Given the description of an element on the screen output the (x, y) to click on. 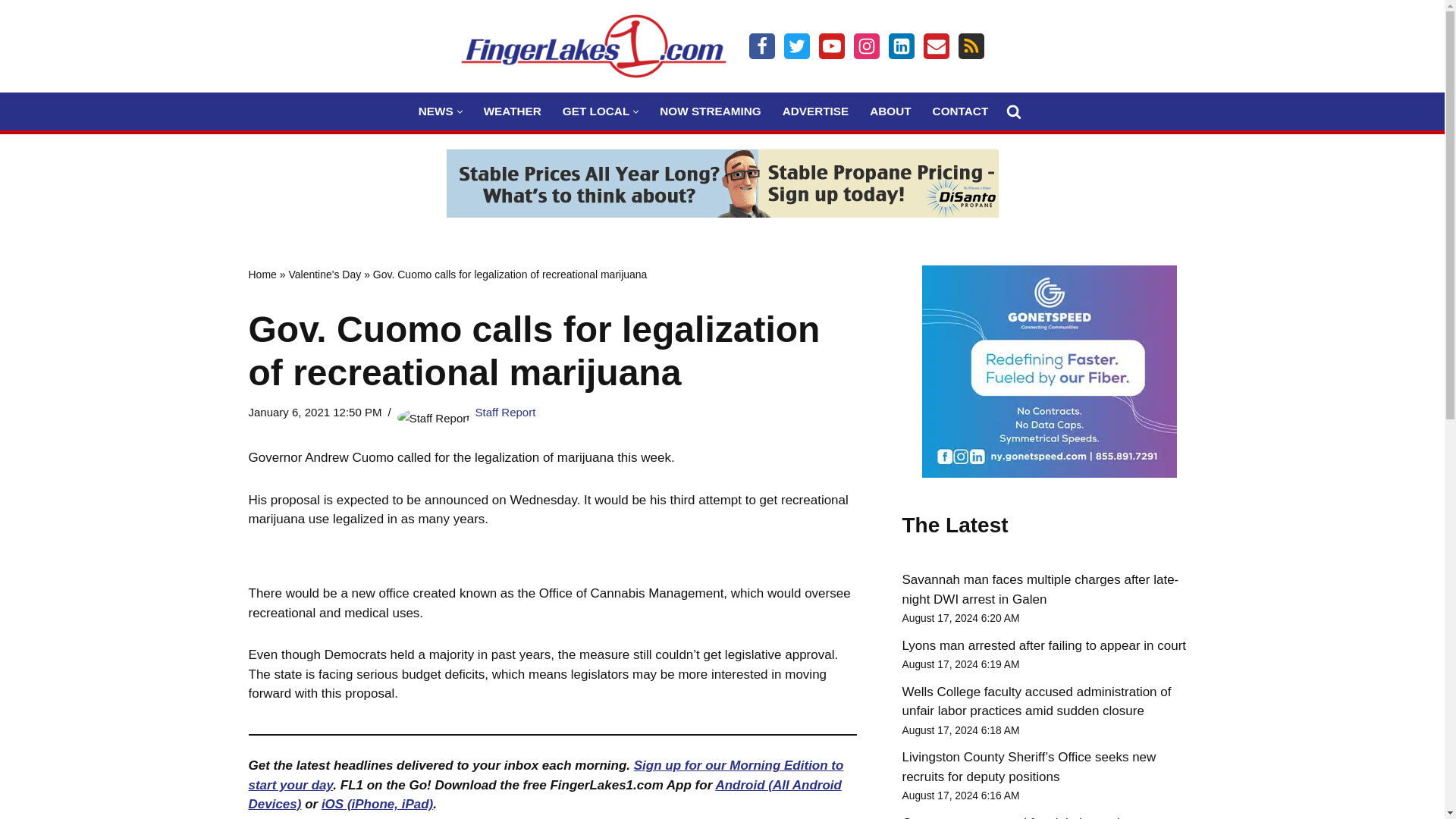
Posts by Staff Report (505, 411)
WEATHER (512, 111)
Instagram (866, 45)
Facebook (761, 45)
GET LOCAL (595, 111)
CONTACT (960, 111)
Youtube (831, 45)
NOW STREAMING (709, 111)
Email Us (936, 45)
ABOUT (890, 111)
